Given the description of an element on the screen output the (x, y) to click on. 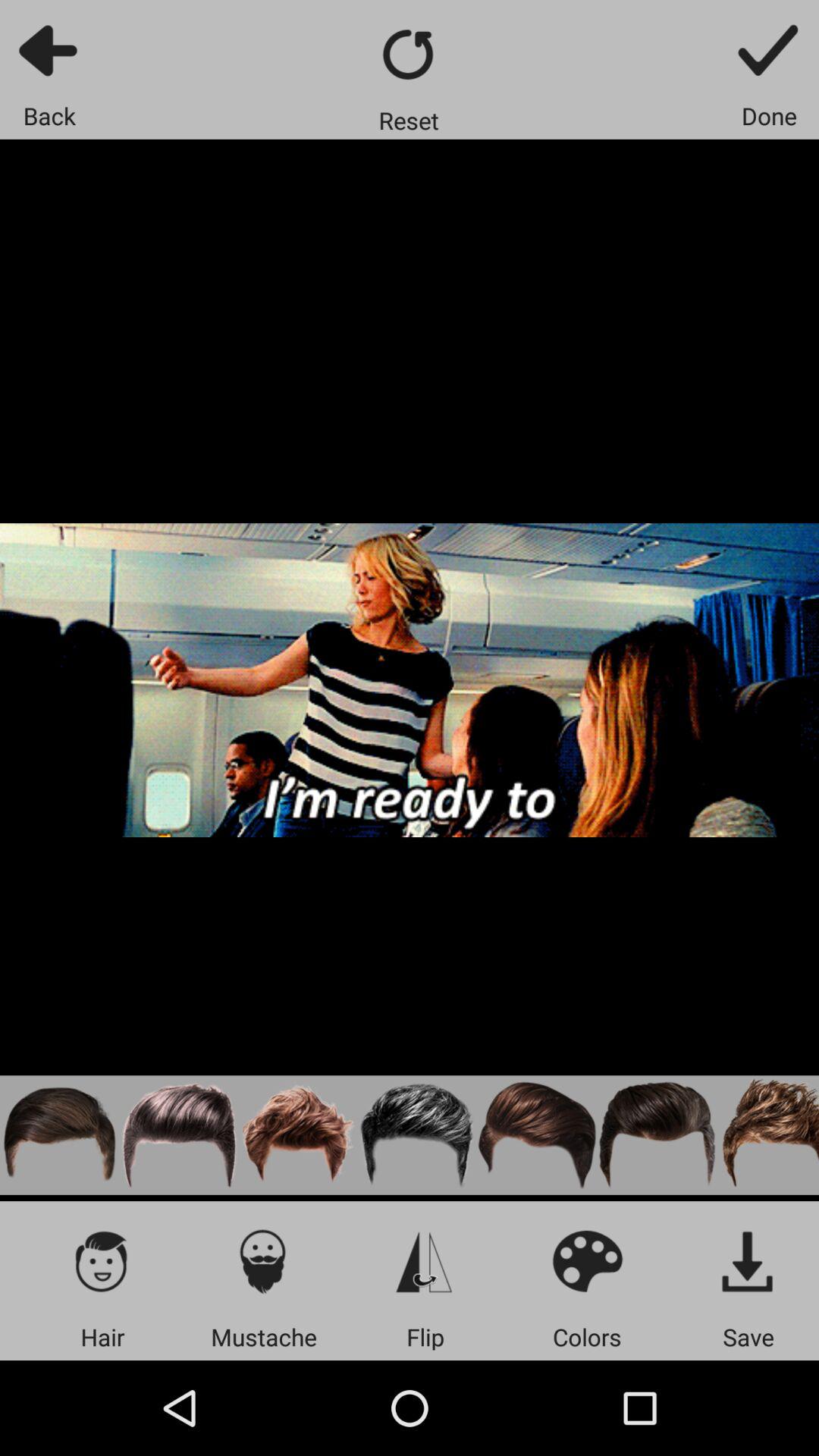
confirm button to finish changes (769, 49)
